Given the description of an element on the screen output the (x, y) to click on. 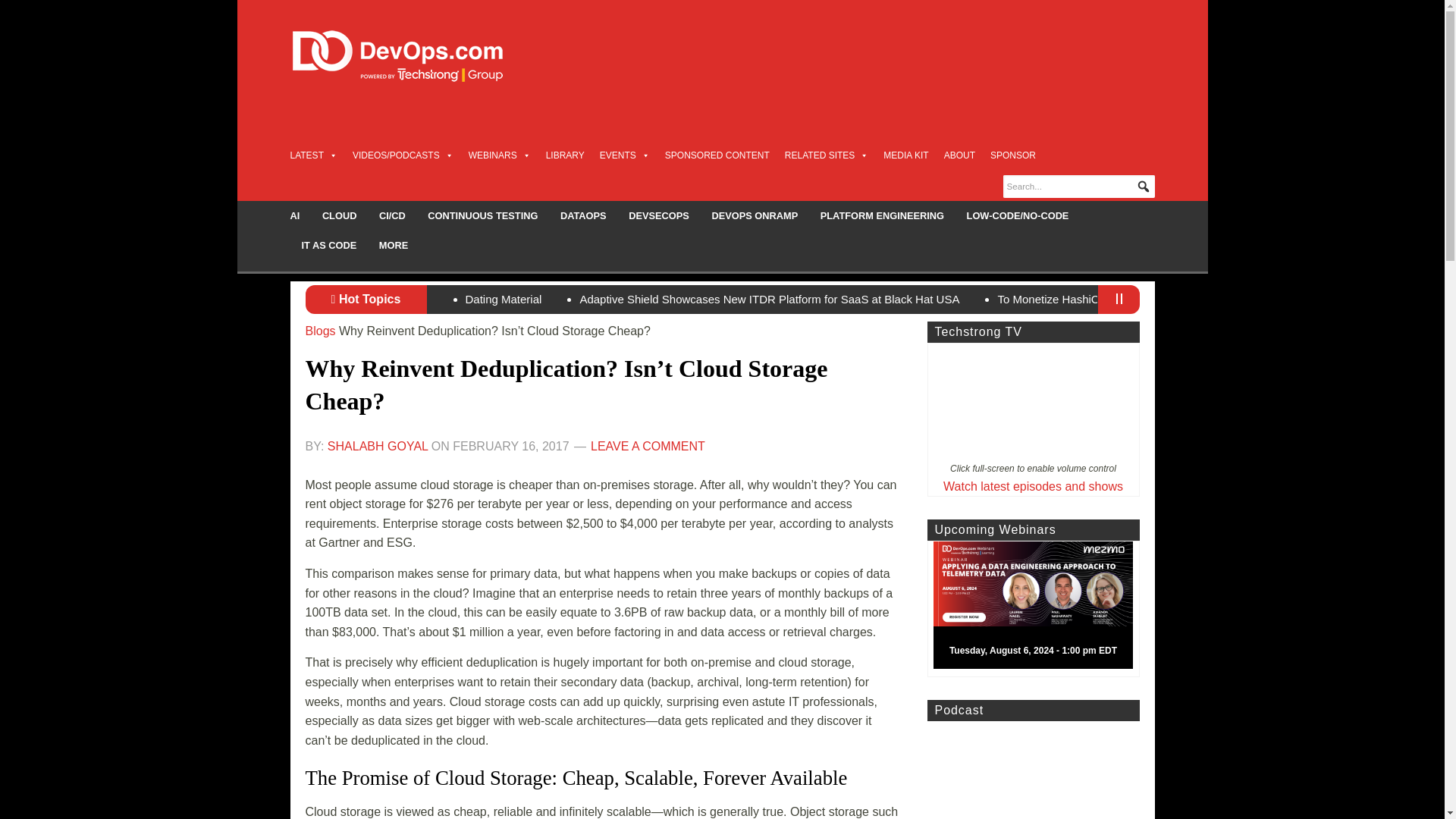
RELATED SITES (825, 155)
SPONSORED CONTENT (717, 155)
Tuesday, August 6, 2024 - 1:00 pm EDT (1038, 608)
DEVOPS.COM (414, 56)
EVENTS (624, 155)
WEBINARS (499, 155)
Dating Material (503, 298)
LATEST (312, 155)
LIBRARY (565, 155)
